Given the description of an element on the screen output the (x, y) to click on. 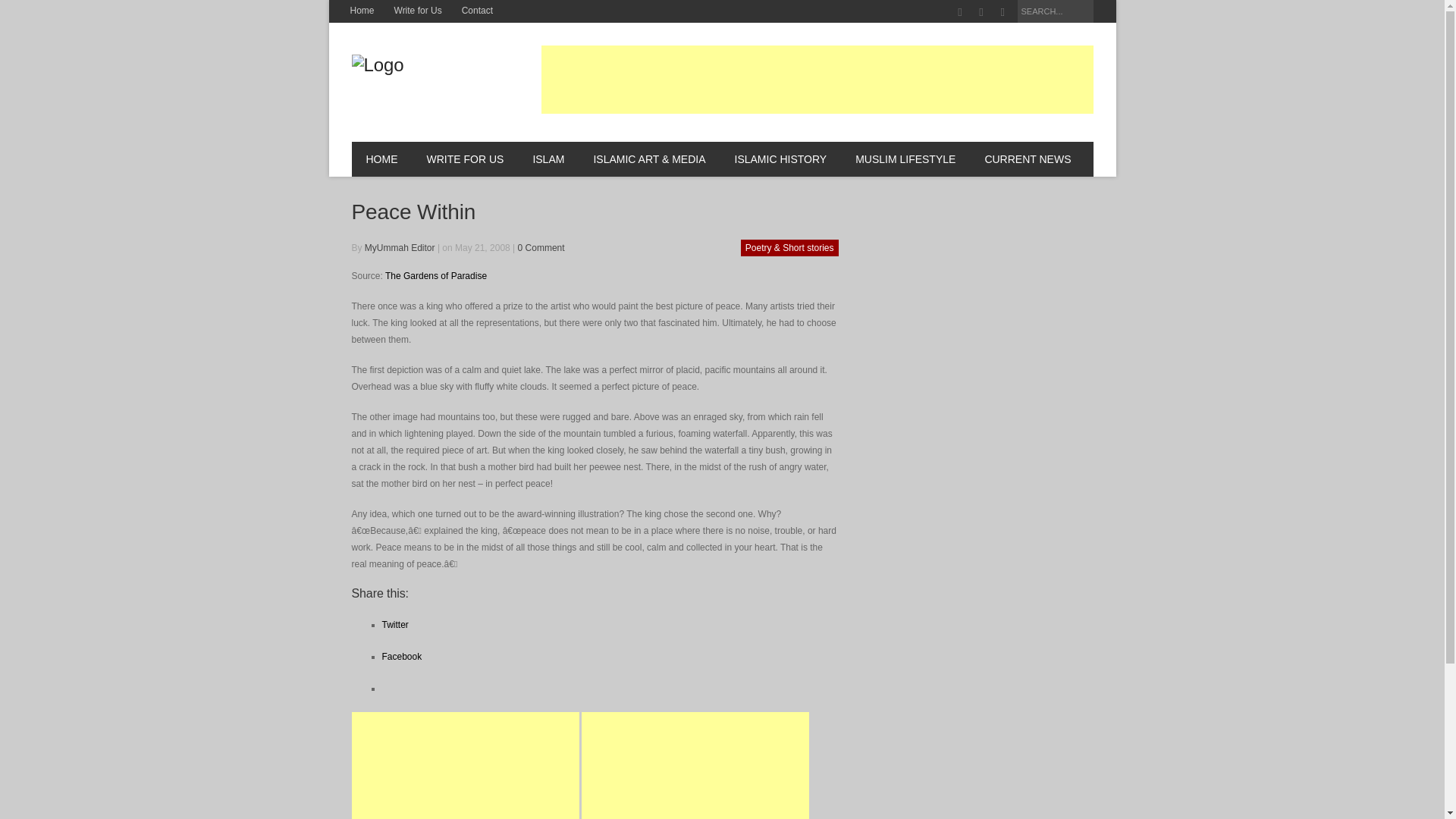
Search (1084, 13)
Facebook (960, 11)
Search (1084, 13)
ISLAMIC HISTORY (780, 158)
SEARCH... (1055, 11)
Write for Us (417, 11)
WRITE FOR US (465, 158)
Click to share on Twitter (395, 624)
Home (361, 11)
Search (1084, 13)
